Given the description of an element on the screen output the (x, y) to click on. 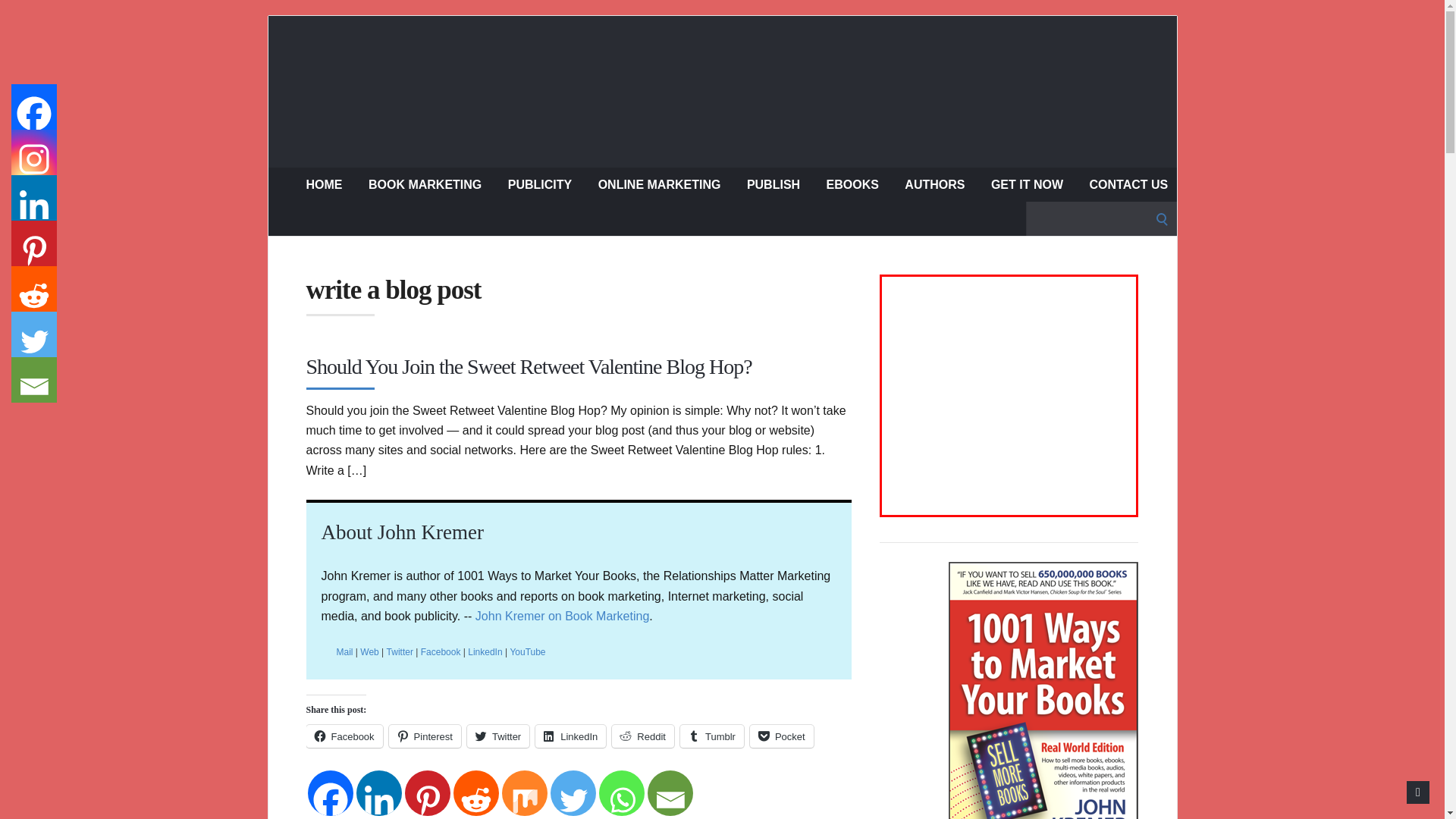
Linkedin (378, 792)
Click to share on Pocket (781, 735)
Reddit (475, 792)
ONLINE MARKETING (659, 184)
John Kremer On YouTube (526, 652)
Click to share on Facebook (343, 735)
Click to share on Twitter (498, 735)
John Kremer On Facebook (440, 652)
John Kremer On LinkedIn (484, 652)
Click to share on Reddit (642, 735)
